Given the description of an element on the screen output the (x, y) to click on. 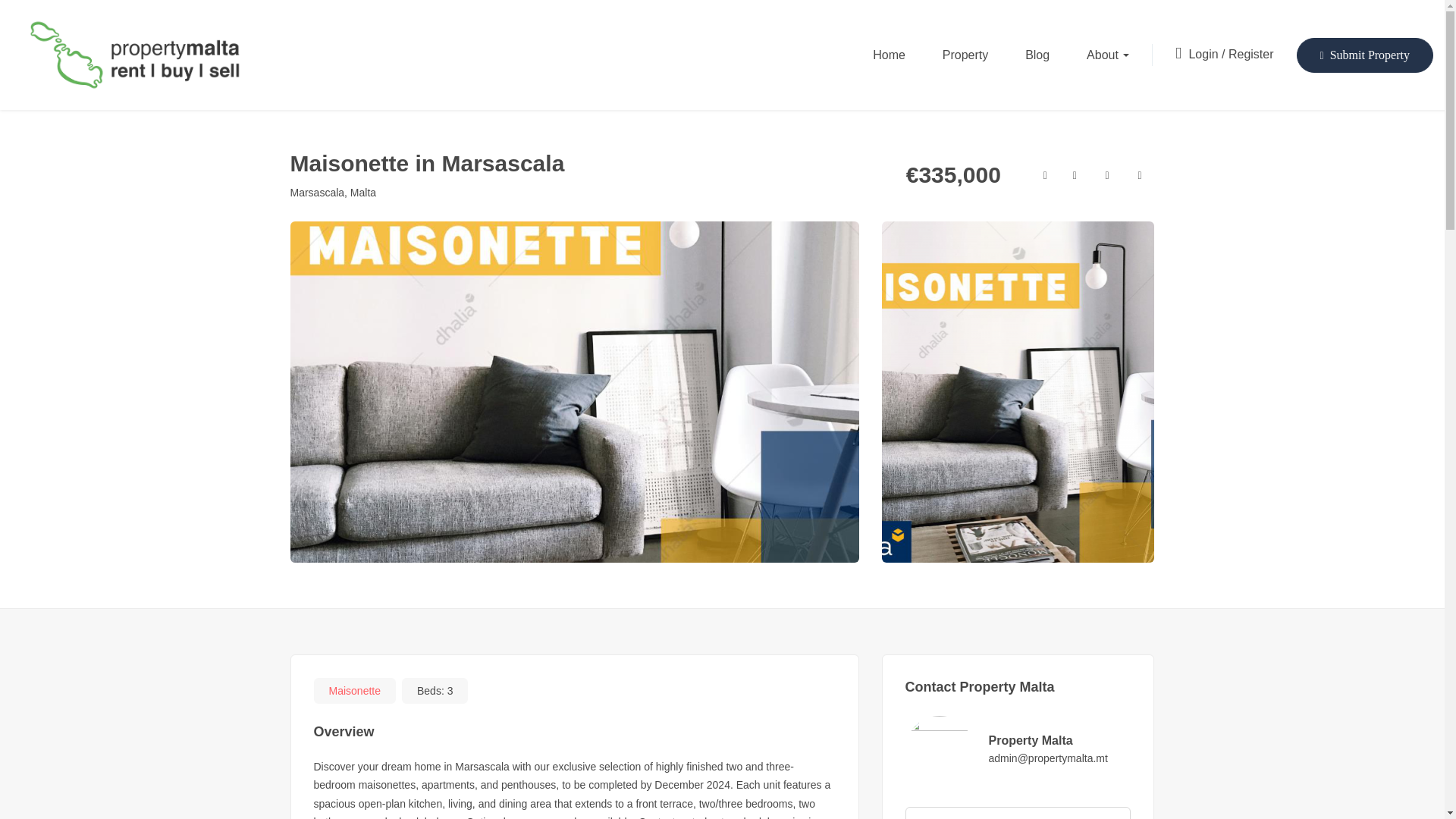
Register (1251, 53)
Marsascala, Malta (332, 192)
Login (1204, 53)
Login (1204, 53)
Submit Property (1364, 54)
Register (1251, 53)
